Given the description of an element on the screen output the (x, y) to click on. 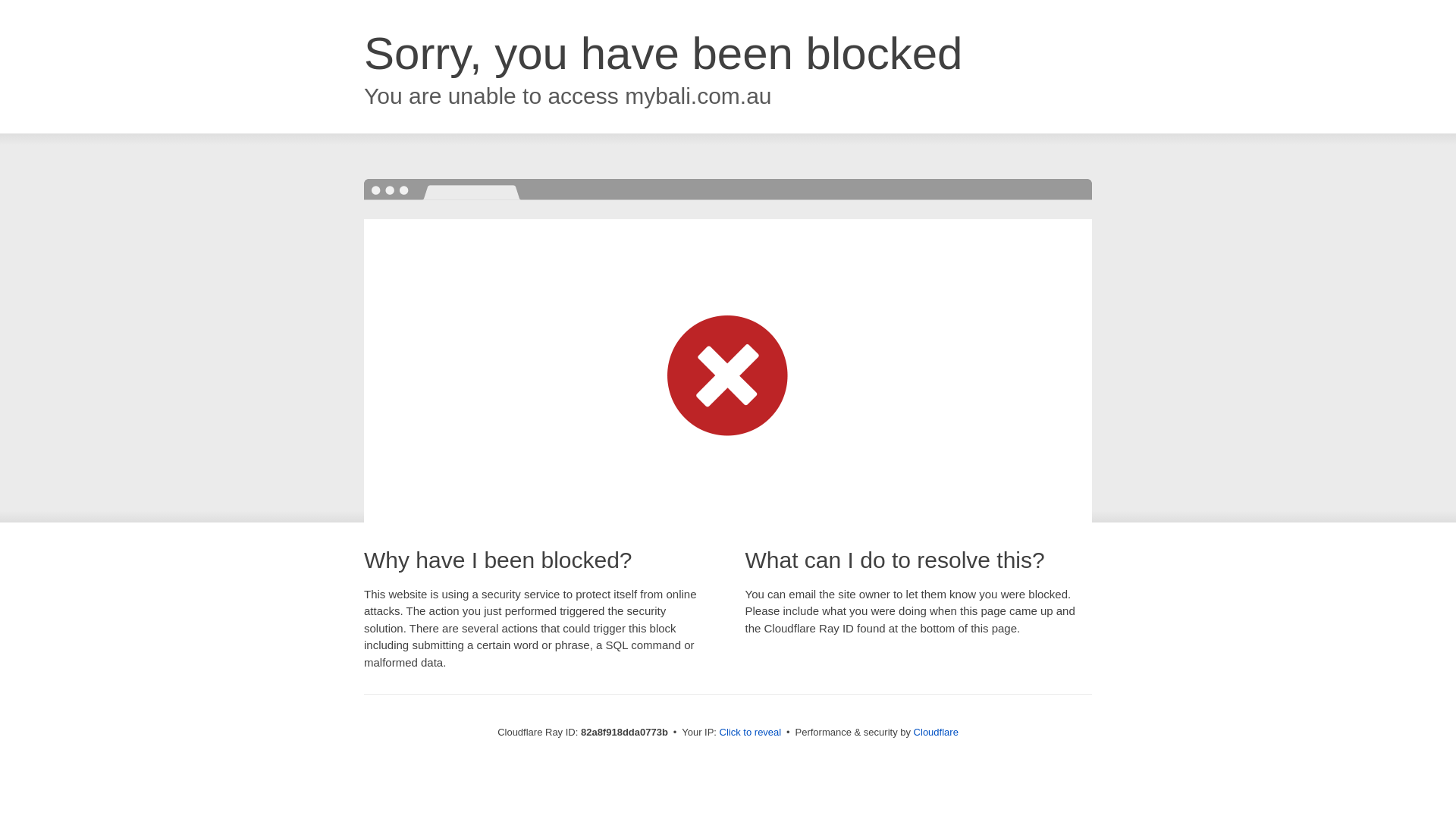
Cloudflare Element type: text (935, 731)
Click to reveal Element type: text (750, 732)
